Given the description of an element on the screen output the (x, y) to click on. 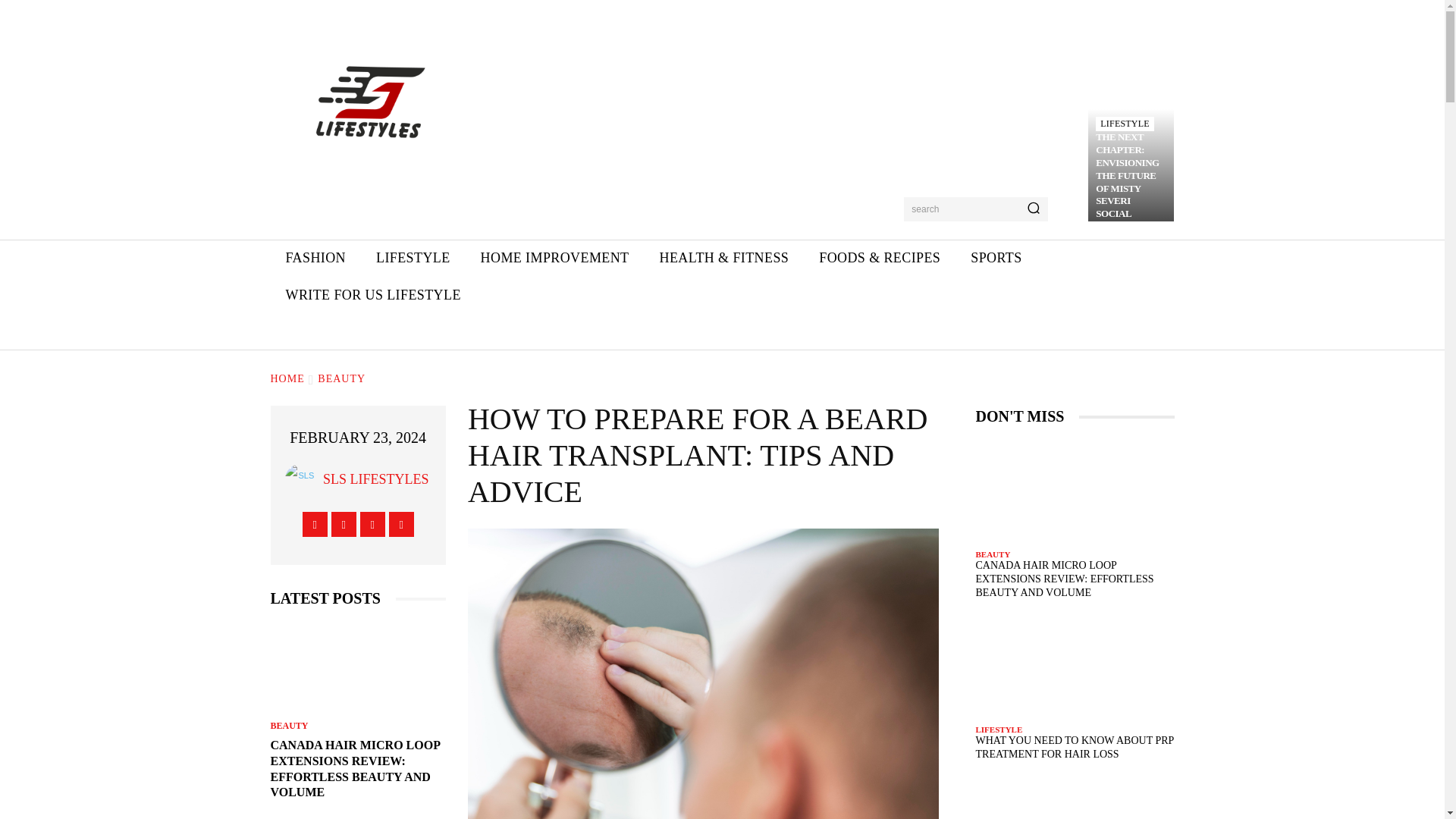
WRITE FOR US LIFESTYLE (372, 294)
View all posts in Beauty (341, 378)
Facebook (314, 524)
SPORTS (995, 257)
BEAUTY (341, 378)
LIFESTYLE (1124, 124)
Youtube (400, 524)
Instagram (343, 524)
HOME (286, 378)
SLS LIFESTYLES (376, 478)
LIFESTYLE (413, 257)
Twitter (372, 524)
FASHION (314, 257)
